Given the description of an element on the screen output the (x, y) to click on. 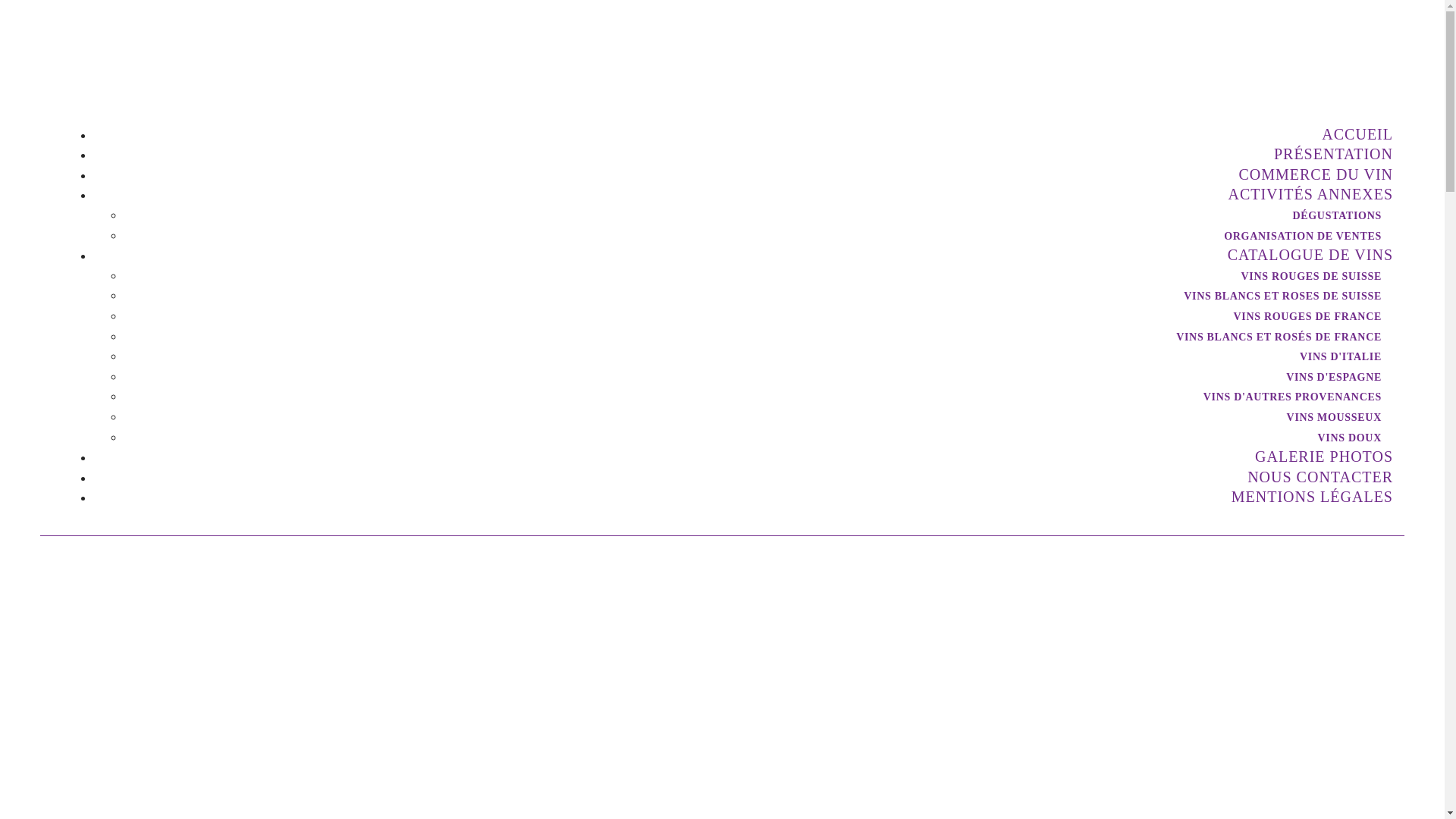
COMMERCE DU VIN Element type: text (1315, 174)
VINS D'ITALIE Element type: text (1336, 356)
VINS BLANCS ET ROSES DE SUISSE Element type: text (1278, 295)
VINS D'ESPAGNE Element type: text (1330, 377)
ORGANISATION DE VENTES Element type: text (1298, 235)
VINS ROUGES DE FRANCE Element type: text (1303, 316)
VINS DOUX Element type: text (1346, 437)
VINS MOUSSEUX Element type: text (1330, 417)
VINS ROUGES DE SUISSE Element type: text (1307, 276)
ACCUEIL Element type: text (1357, 134)
CATALOGUE DE VINS Element type: text (1310, 254)
GALERIE PHOTOS Element type: text (1324, 456)
VINS D'AUTRES PROVENANCES Element type: text (1288, 396)
NOUS CONTACTER Element type: text (1320, 477)
